Given the description of an element on the screen output the (x, y) to click on. 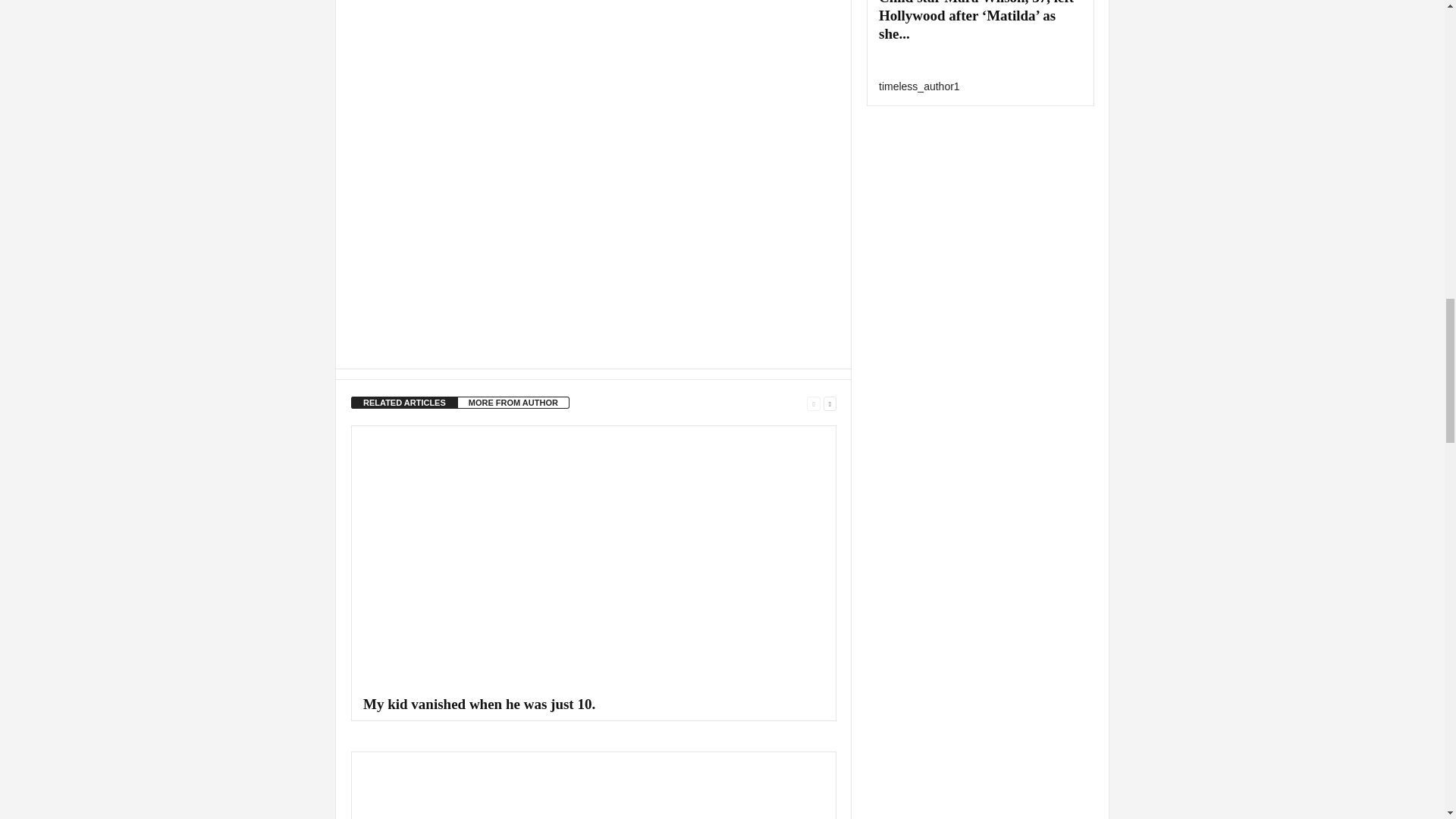
My kid vanished when he was just 10. (478, 703)
MORE FROM AUTHOR (513, 402)
RELATED ARTICLES (404, 402)
YouTube video player (563, 4)
My kid vanished when he was just 10. (593, 558)
My kid vanished when he was just 10. (478, 703)
YouTube video player (563, 152)
